Given the description of an element on the screen output the (x, y) to click on. 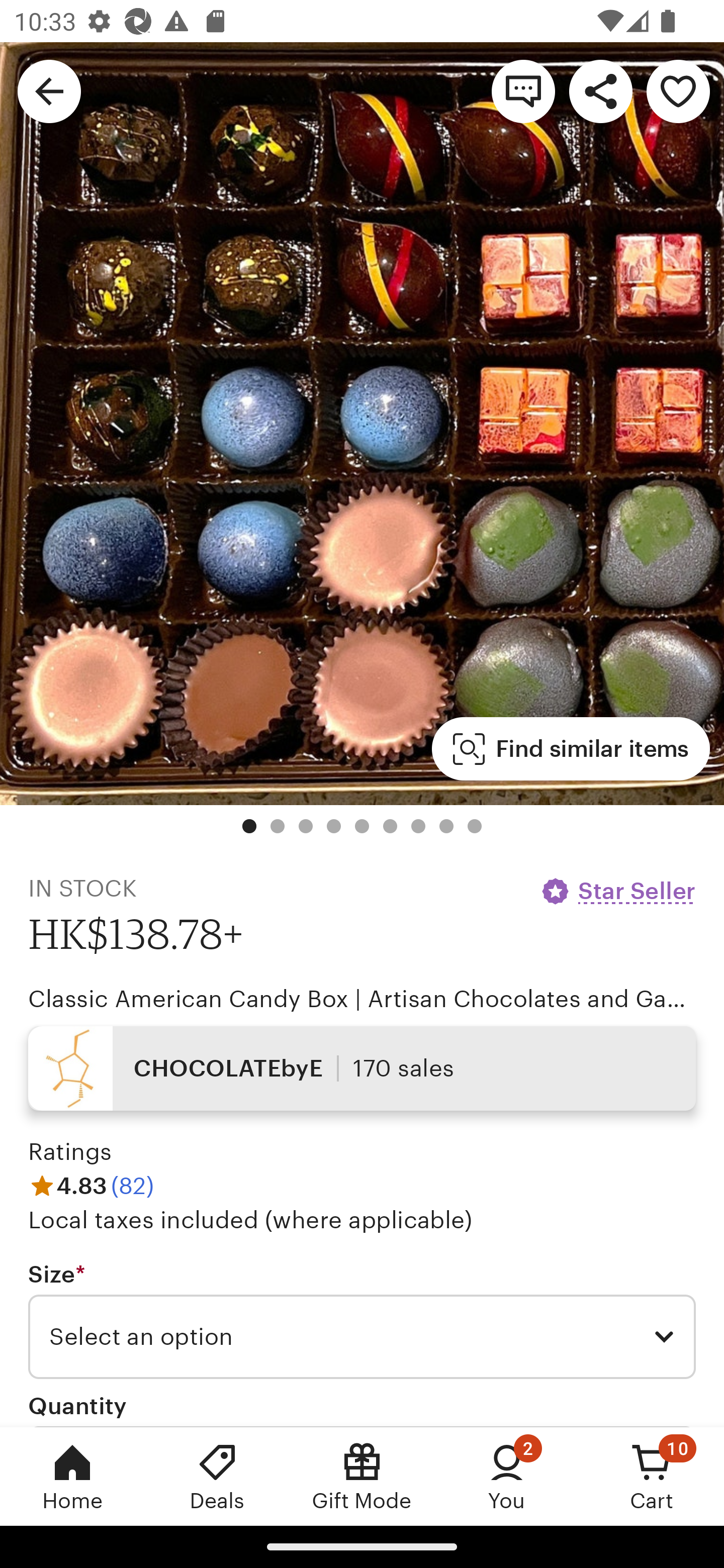
Navigate up (49, 90)
Contact shop (523, 90)
Share (600, 90)
Find similar items (571, 748)
Star Seller (617, 890)
CHOCOLATEbyE 170 sales (361, 1067)
Ratings (70, 1151)
4.83 (82) (91, 1185)
Size * Required Select an option (361, 1319)
Select an option (361, 1336)
Quantity (77, 1405)
Deals (216, 1475)
Gift Mode (361, 1475)
You, 2 new notifications You (506, 1475)
Cart, 10 new notifications Cart (651, 1475)
